Given the description of an element on the screen output the (x, y) to click on. 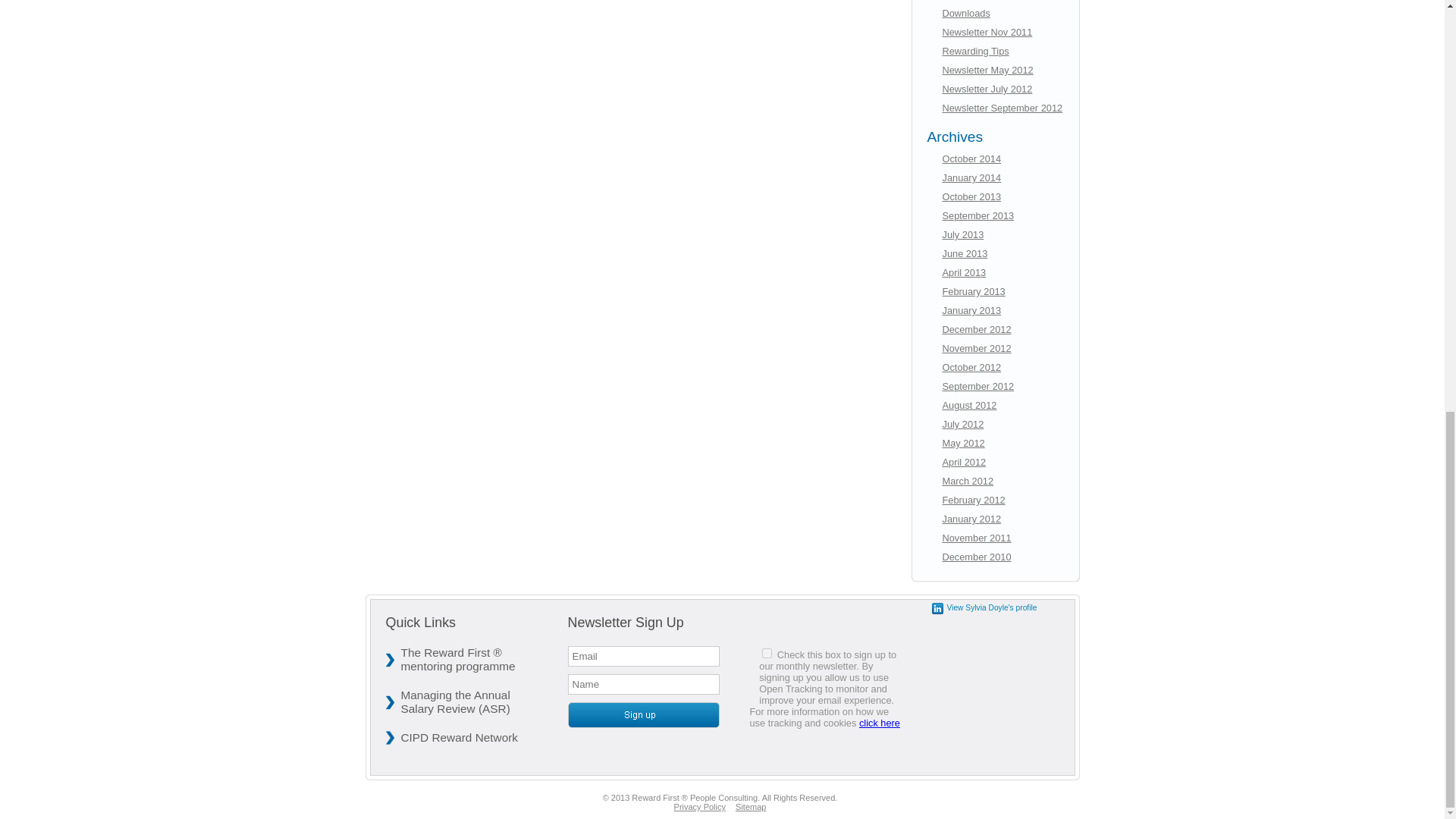
Name (643, 684)
Email (643, 656)
Downloads (966, 12)
